Given the description of an element on the screen output the (x, y) to click on. 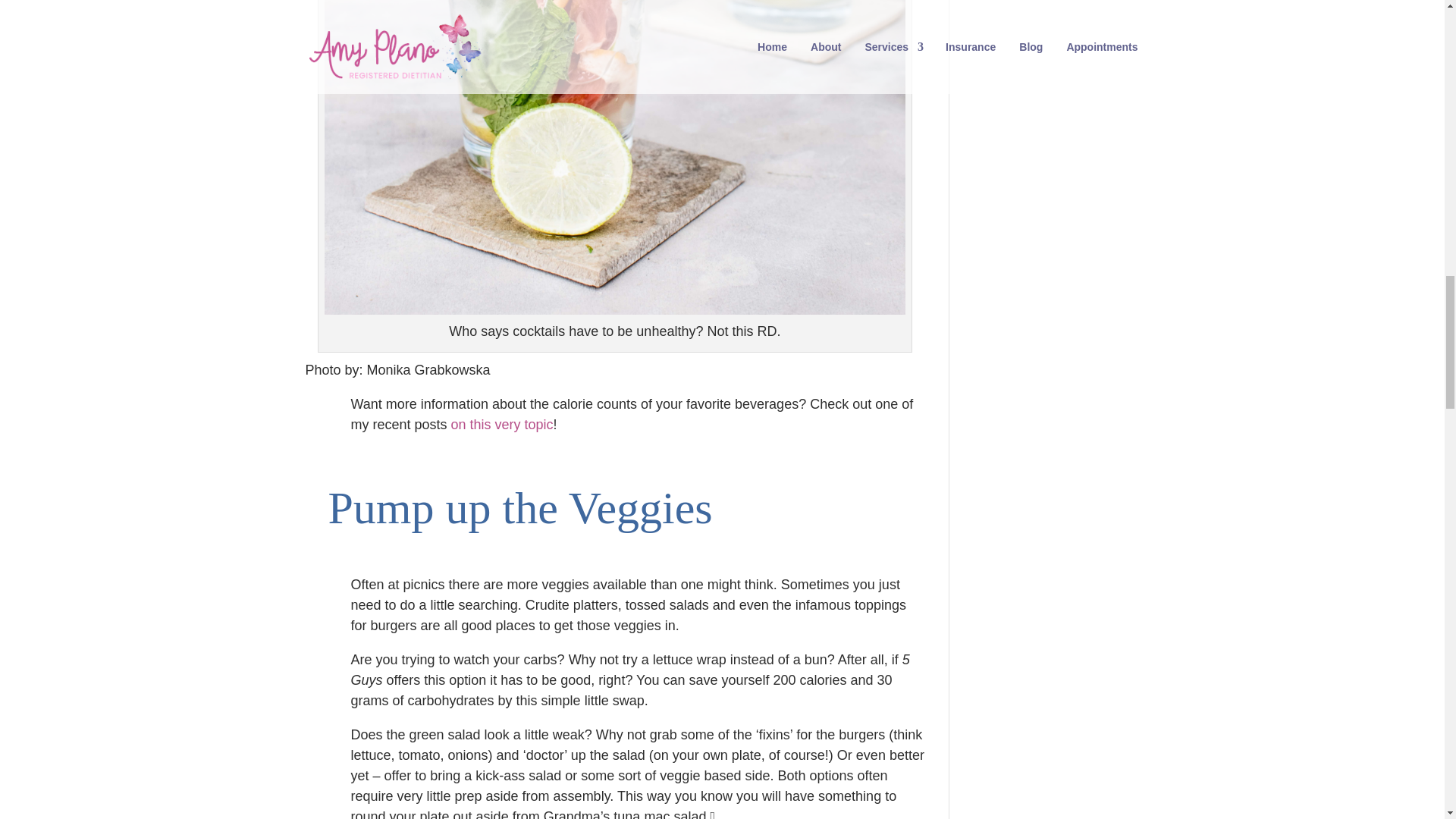
on this very topic (502, 424)
